Given the description of an element on the screen output the (x, y) to click on. 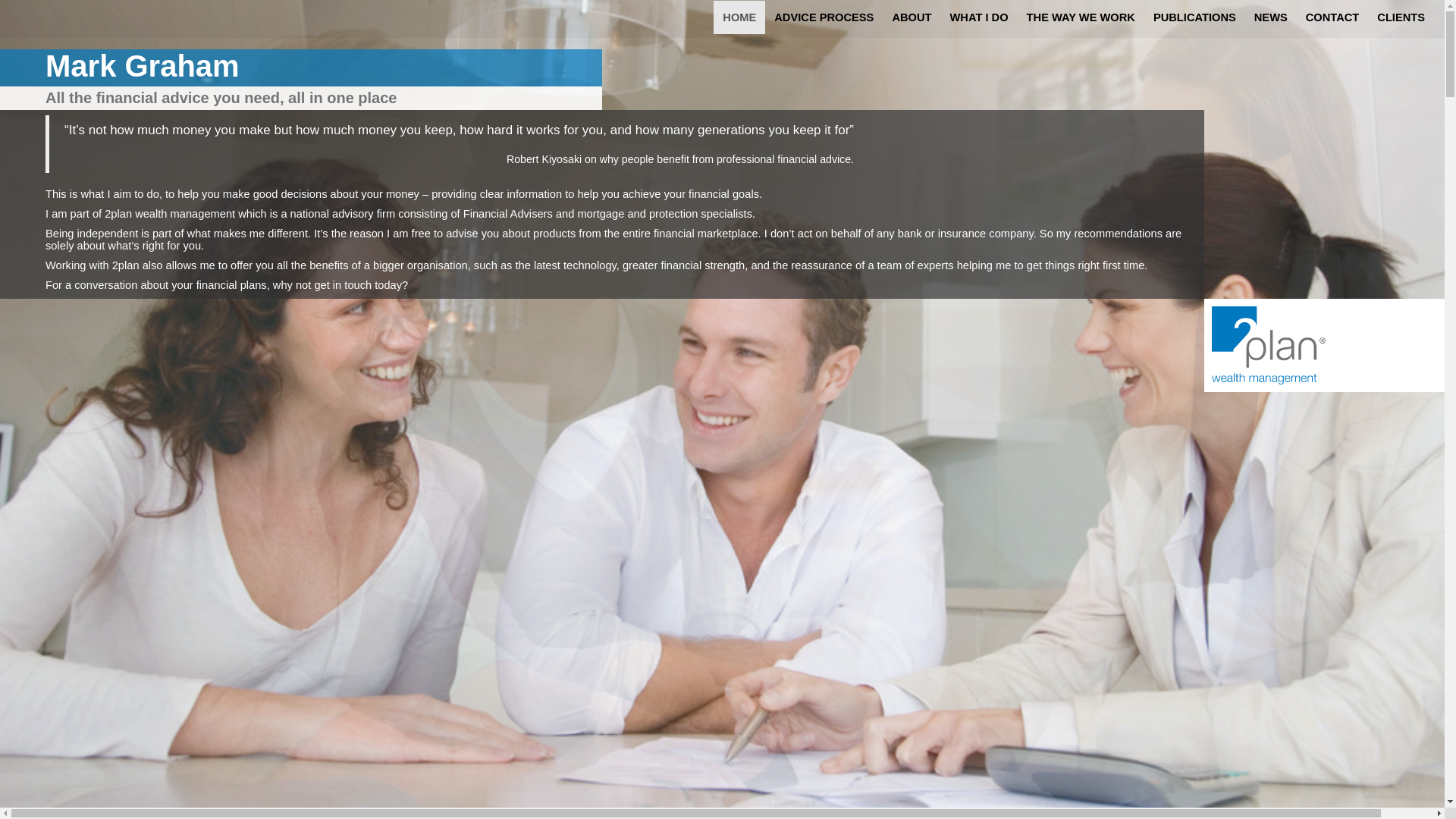
HOME Element type: text (739, 17)
CLIENTS Element type: text (1401, 17)
PUBLICATIONS Element type: text (1194, 17)
ADVICE PROCESS Element type: text (823, 17)
WHAT I DO Element type: text (979, 17)
THE WAY WE WORK Element type: text (1080, 17)
ABOUT Element type: text (911, 17)
NEWS Element type: text (1270, 17)
CONTACT Element type: text (1332, 17)
